Given the description of an element on the screen output the (x, y) to click on. 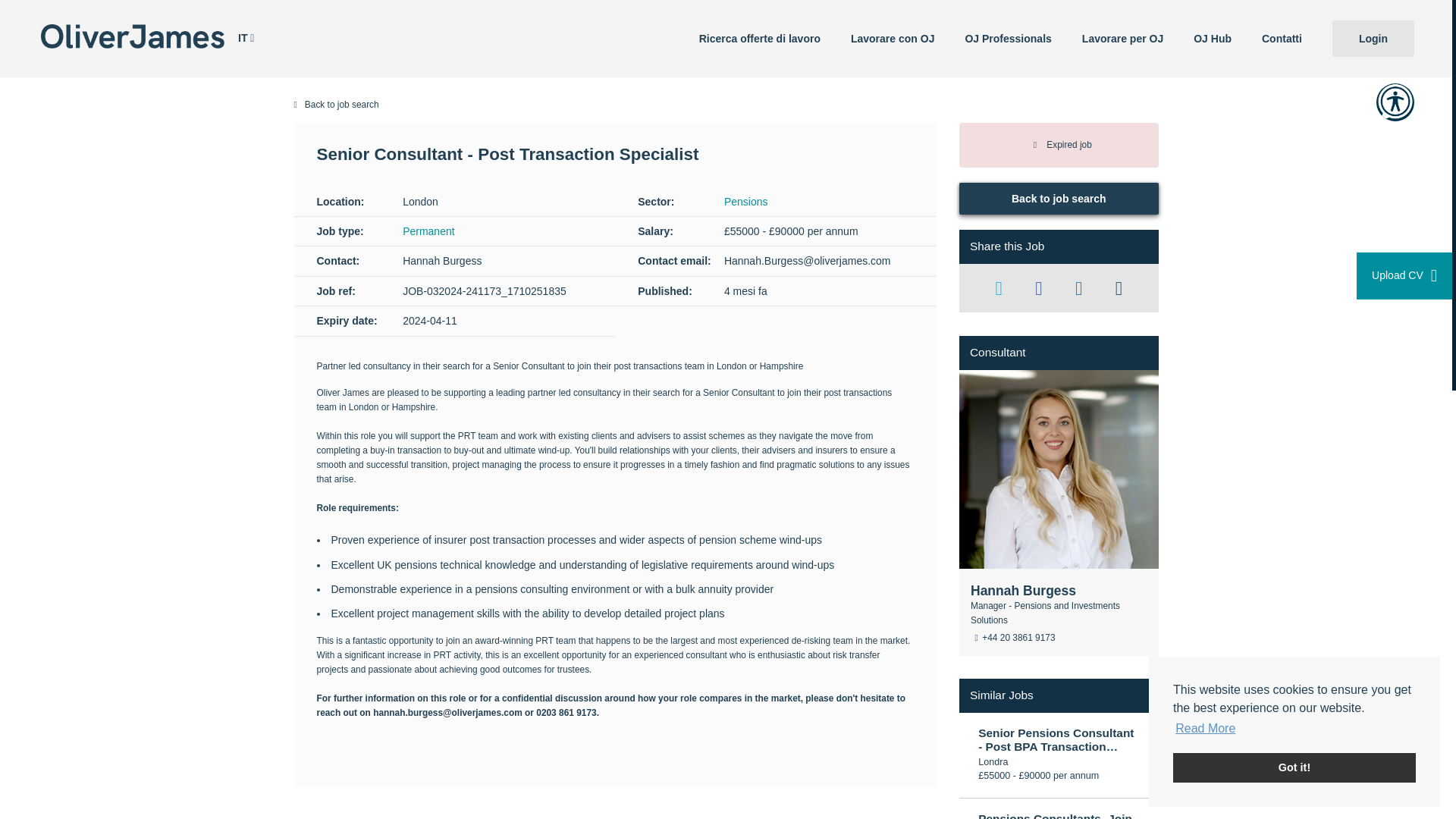
Back to job search (726, 104)
Lavorare con OJ (892, 38)
Back to job search (1058, 198)
Login (1372, 38)
Got it! (1294, 767)
Ricerca offerte di lavoro (759, 38)
Pensions (745, 201)
Upload CV (1404, 275)
Lavorare per OJ (1122, 38)
Contatti (1281, 38)
Permanent (428, 231)
Read More (1206, 728)
OJ Professionals (1007, 38)
